Given the description of an element on the screen output the (x, y) to click on. 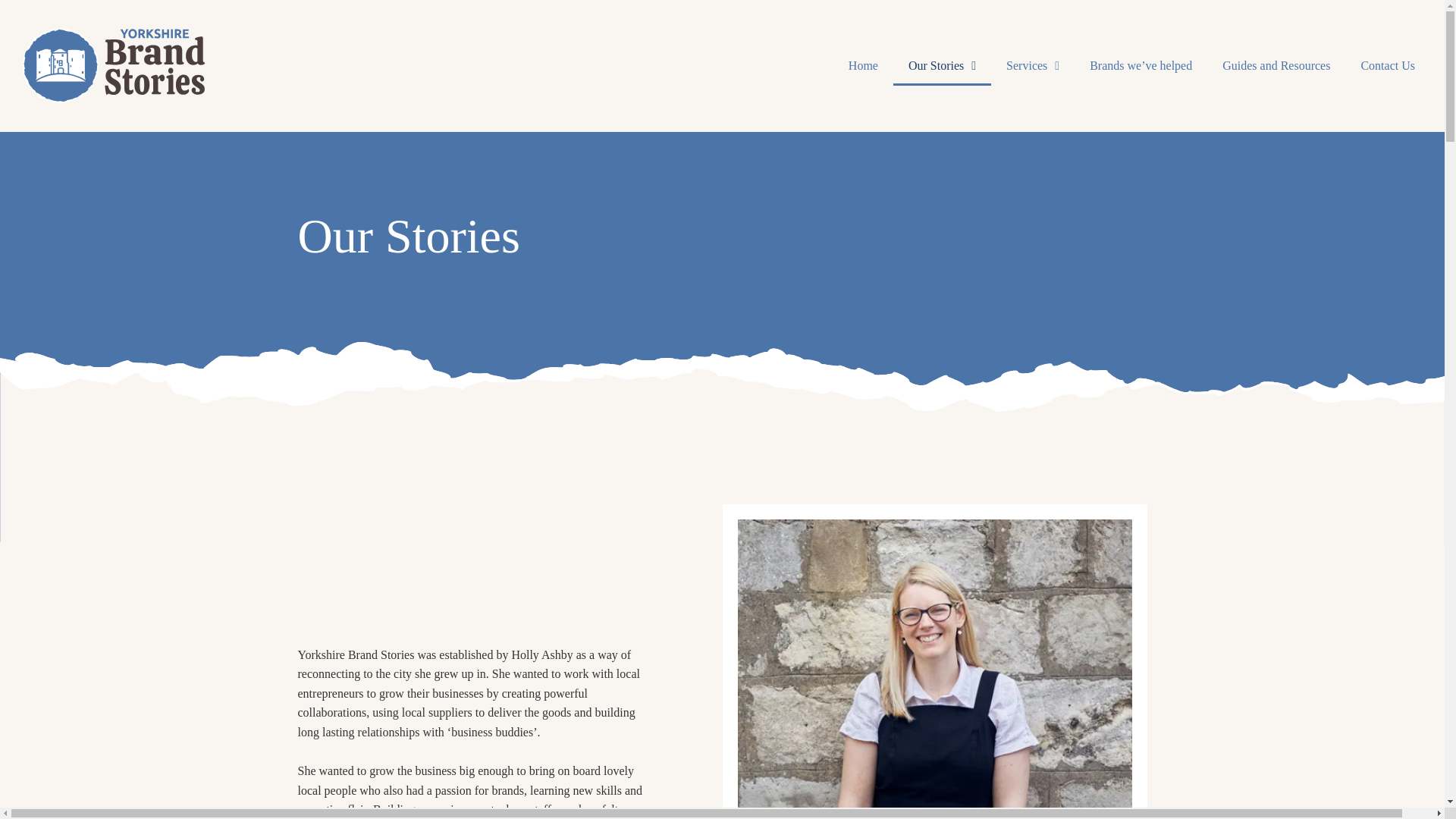
Home (862, 65)
Services (1032, 65)
Contact Us (1387, 65)
Guides and Resources (1276, 65)
YBS Logo Website (114, 65)
Our Stories (942, 65)
